Given the description of an element on the screen output the (x, y) to click on. 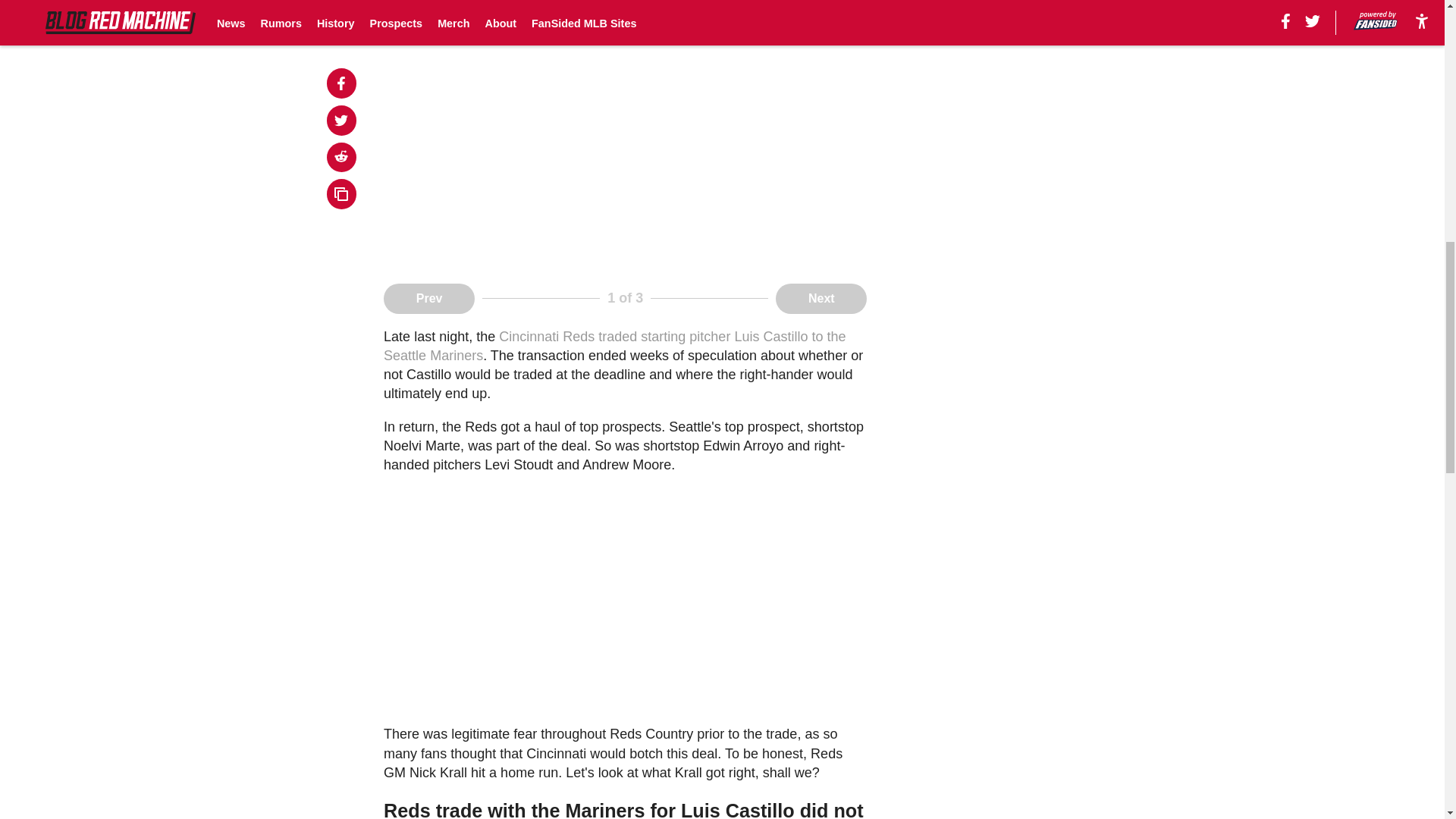
Cincinnati Reds (546, 336)
Prev (429, 298)
Next (821, 298)
